Given the description of an element on the screen output the (x, y) to click on. 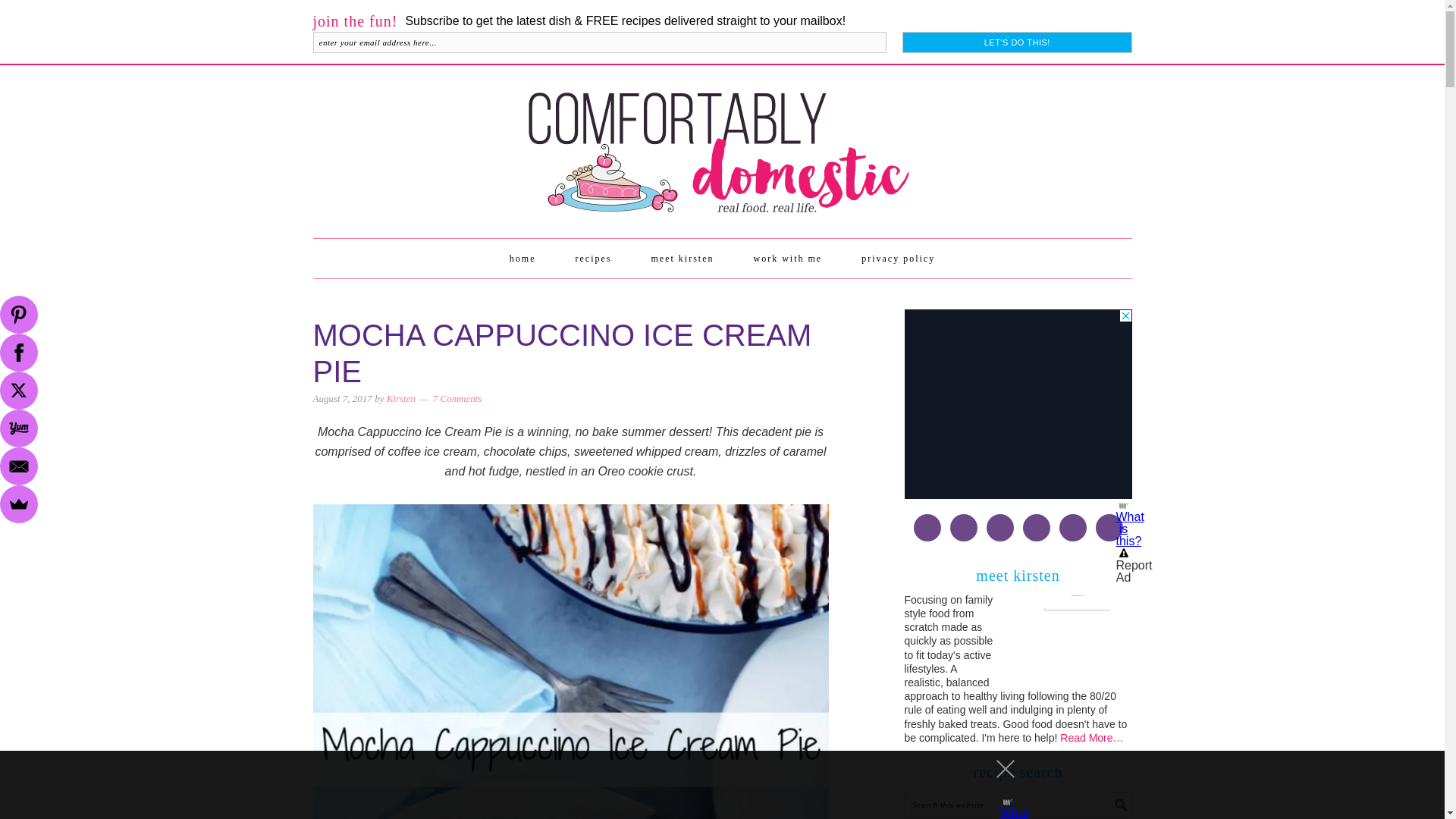
home (522, 258)
privacy policy (898, 258)
COMFORTABLY DOMESTIC (722, 144)
3rd party ad content (1017, 403)
meet kirsten (682, 258)
Let's do this! (1016, 42)
Kirsten (400, 398)
recipes (593, 258)
Let's do this! (1016, 42)
work with me (787, 258)
7 Comments (456, 398)
